Given the description of an element on the screen output the (x, y) to click on. 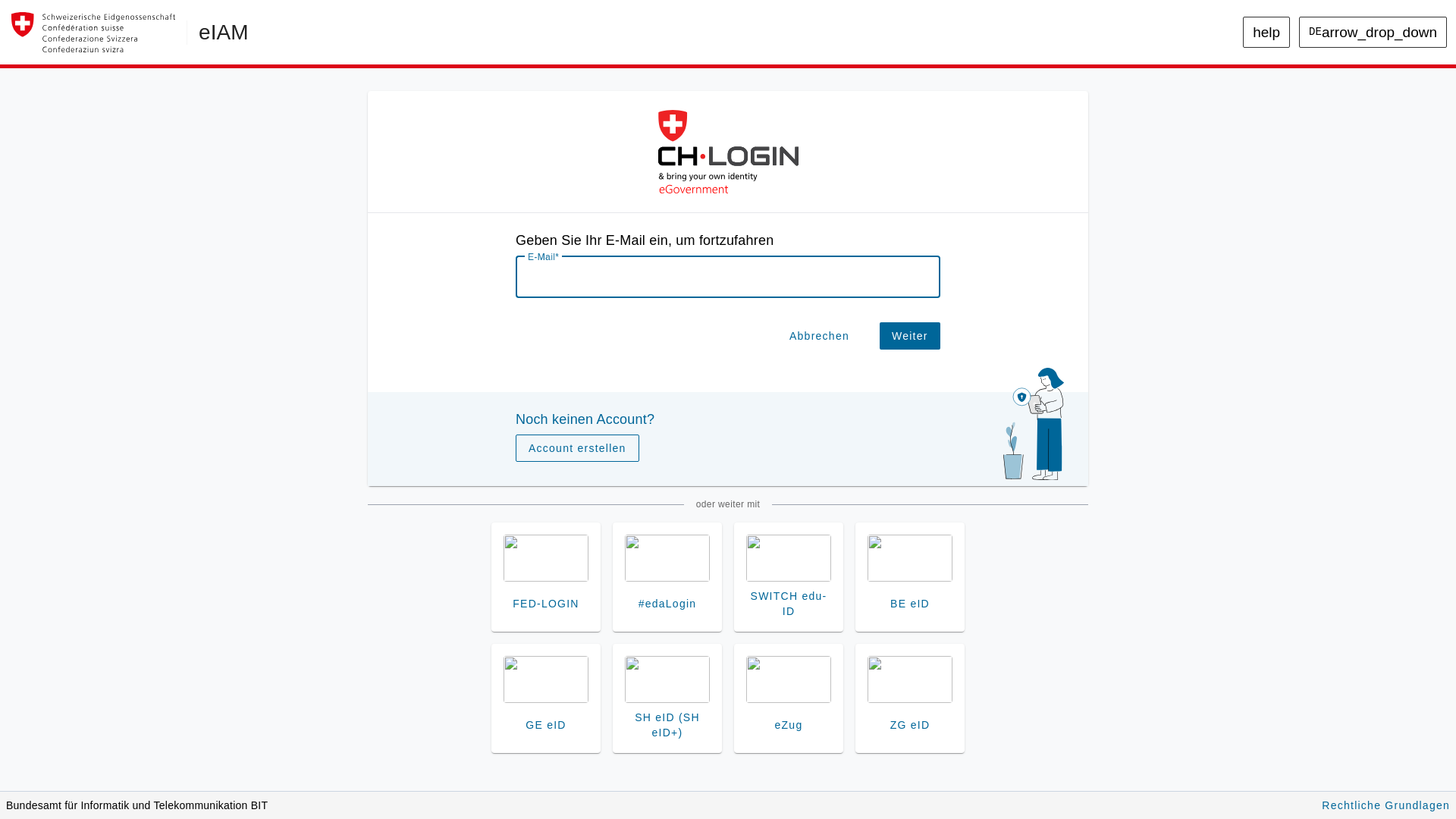
DE Element type: text (1331, 64)
eIAM Element type: text (212, 32)
Rechtliche Grundlagen Element type: text (1372, 803)
arrow_drop_down Element type: text (1378, 31)
help Element type: text (1278, 31)
